Given the description of an element on the screen output the (x, y) to click on. 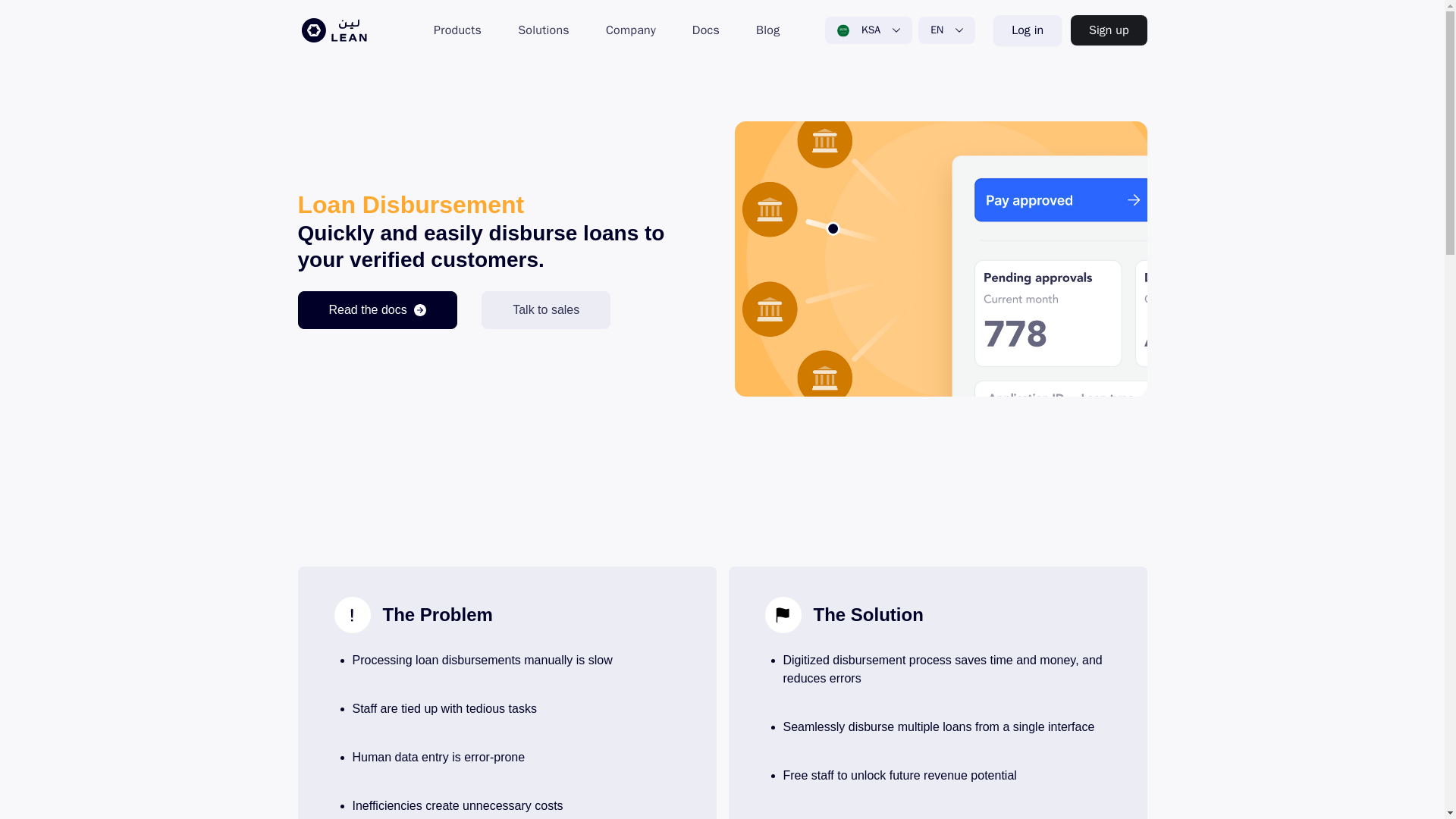
Sign up (1108, 30)
Log in (1026, 30)
Read the docs (377, 310)
Alert (352, 614)
Talk to sales (545, 310)
